Given the description of an element on the screen output the (x, y) to click on. 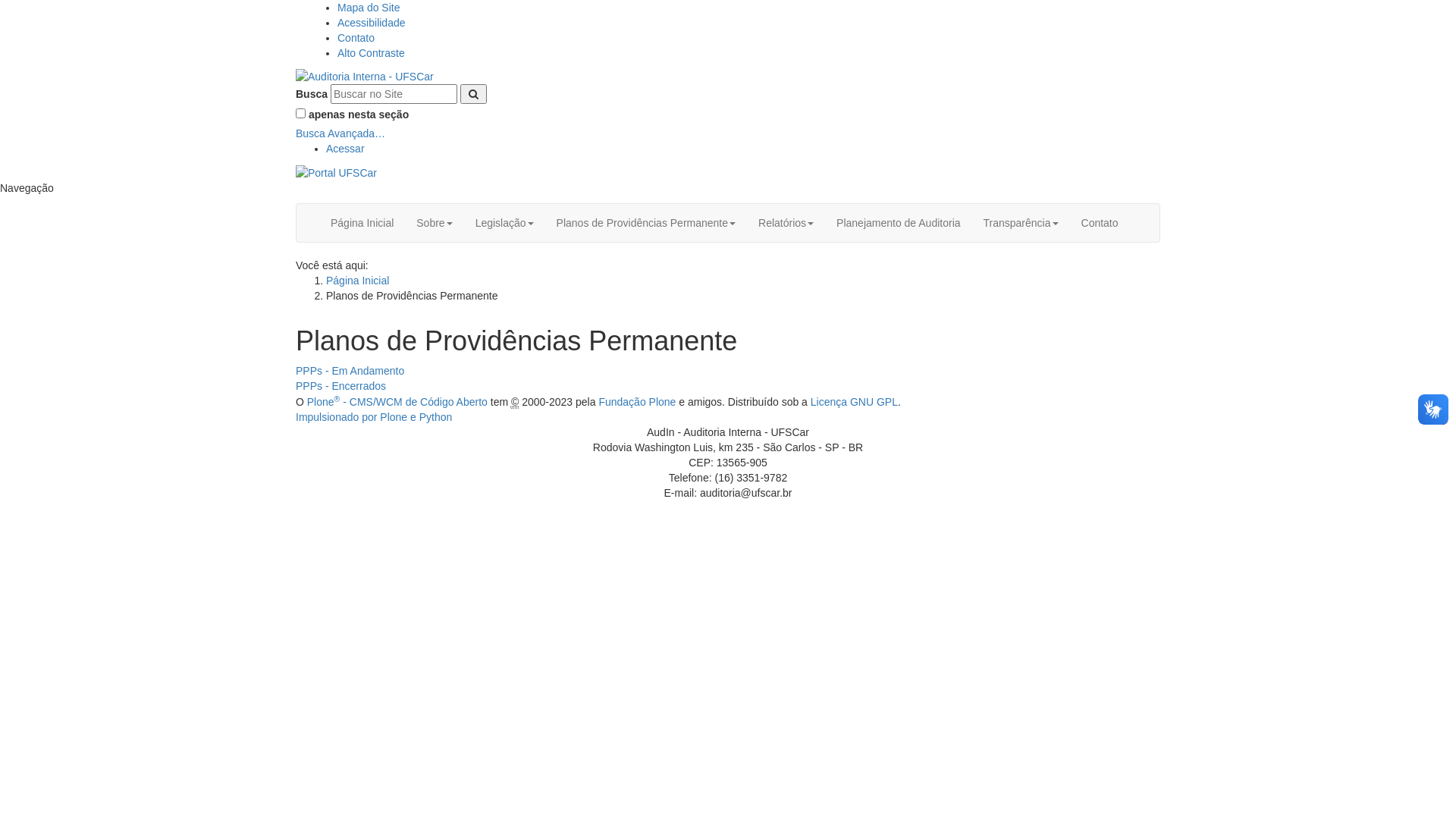
PPPs - Encerrados Element type: text (340, 385)
Portal UFSCar Element type: hover (335, 171)
Contato Element type: text (355, 37)
Contato Element type: text (1099, 222)
Auditoria Interna Element type: hover (364, 75)
Auditoria Interna - UFSCar Element type: hover (364, 76)
Sobre Element type: text (433, 222)
Buscar no Site Element type: hover (393, 93)
Planejamento de Auditoria Element type: text (898, 222)
Acessar Element type: text (345, 148)
Impulsionado por Plone e Python Element type: text (373, 417)
PPPs - Em Andamento Element type: text (349, 370)
Mapa do Site Element type: text (368, 7)
Alto Contraste Element type: text (370, 53)
Acessibilidade Element type: text (371, 22)
